Given the description of an element on the screen output the (x, y) to click on. 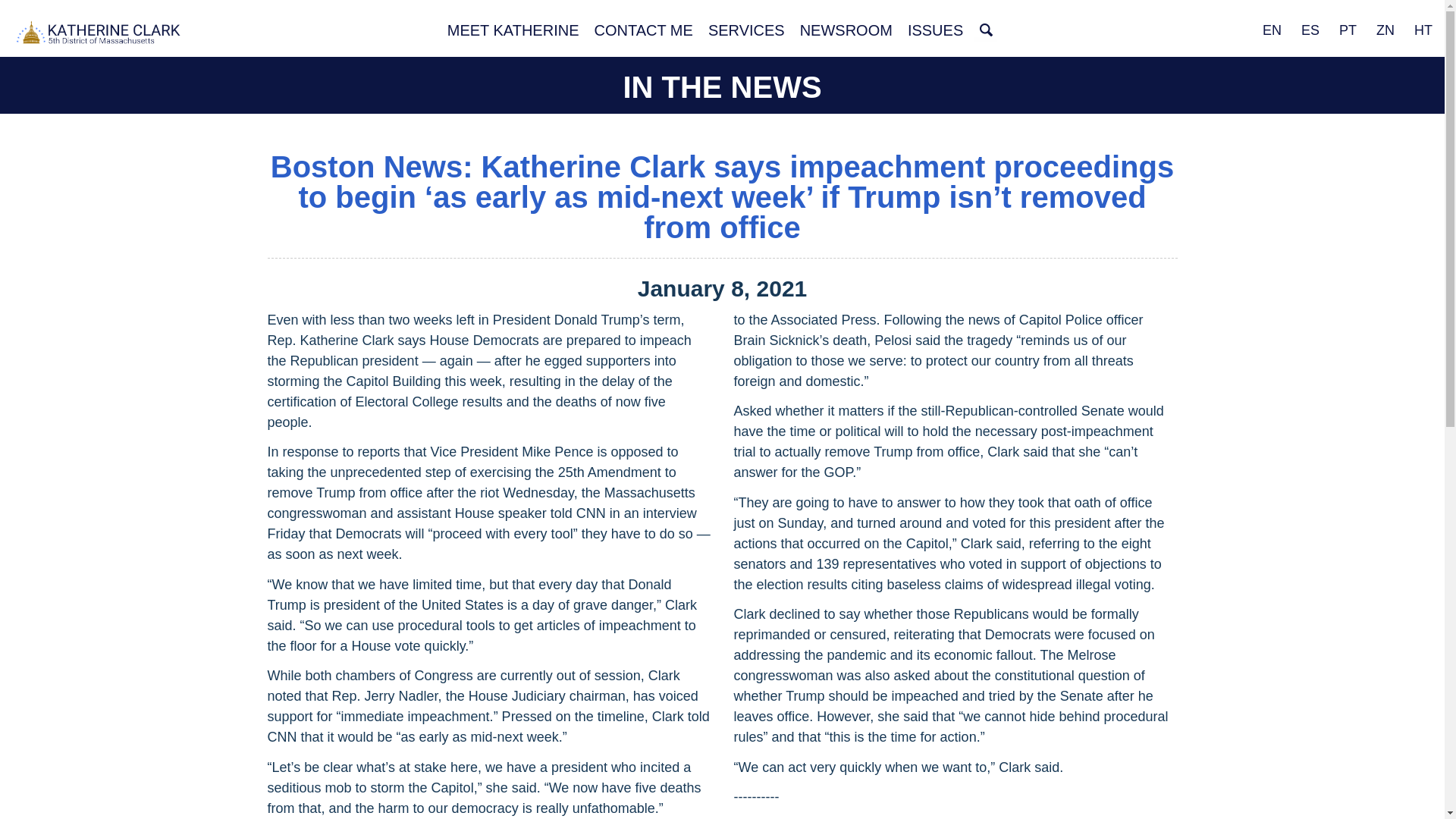
ISSUES (935, 30)
MEET KATHERINE (512, 30)
CONTACT ME (643, 30)
SERVICES (746, 30)
NEWSROOM (845, 30)
EN (1271, 30)
ES (1310, 30)
CONGRESSWOMAN KATHERINE CLARK (98, 34)
